Given the description of an element on the screen output the (x, y) to click on. 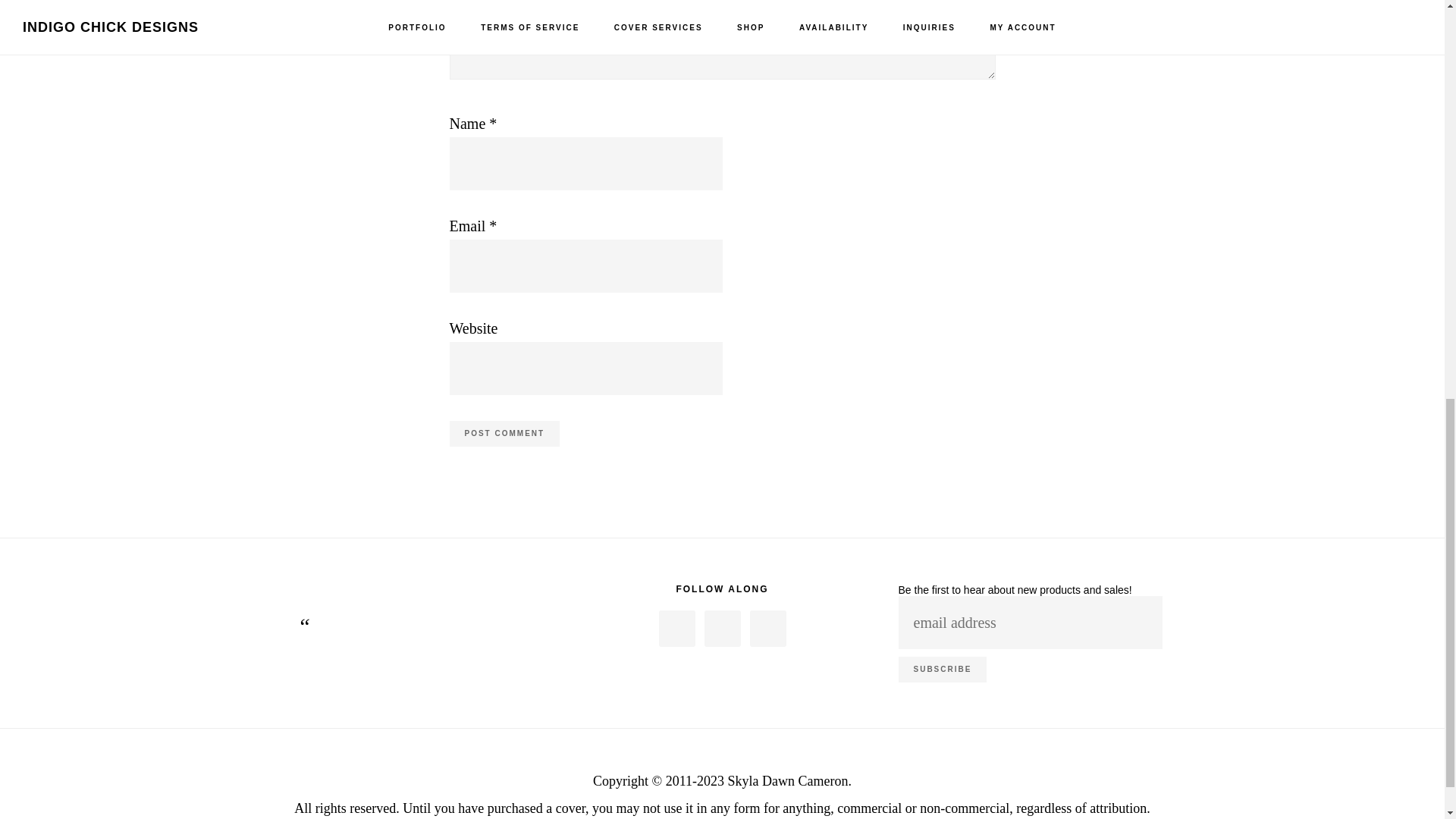
Subscribe (942, 669)
Post Comment (503, 433)
Post Comment (503, 433)
Subscribe (942, 669)
